Given the description of an element on the screen output the (x, y) to click on. 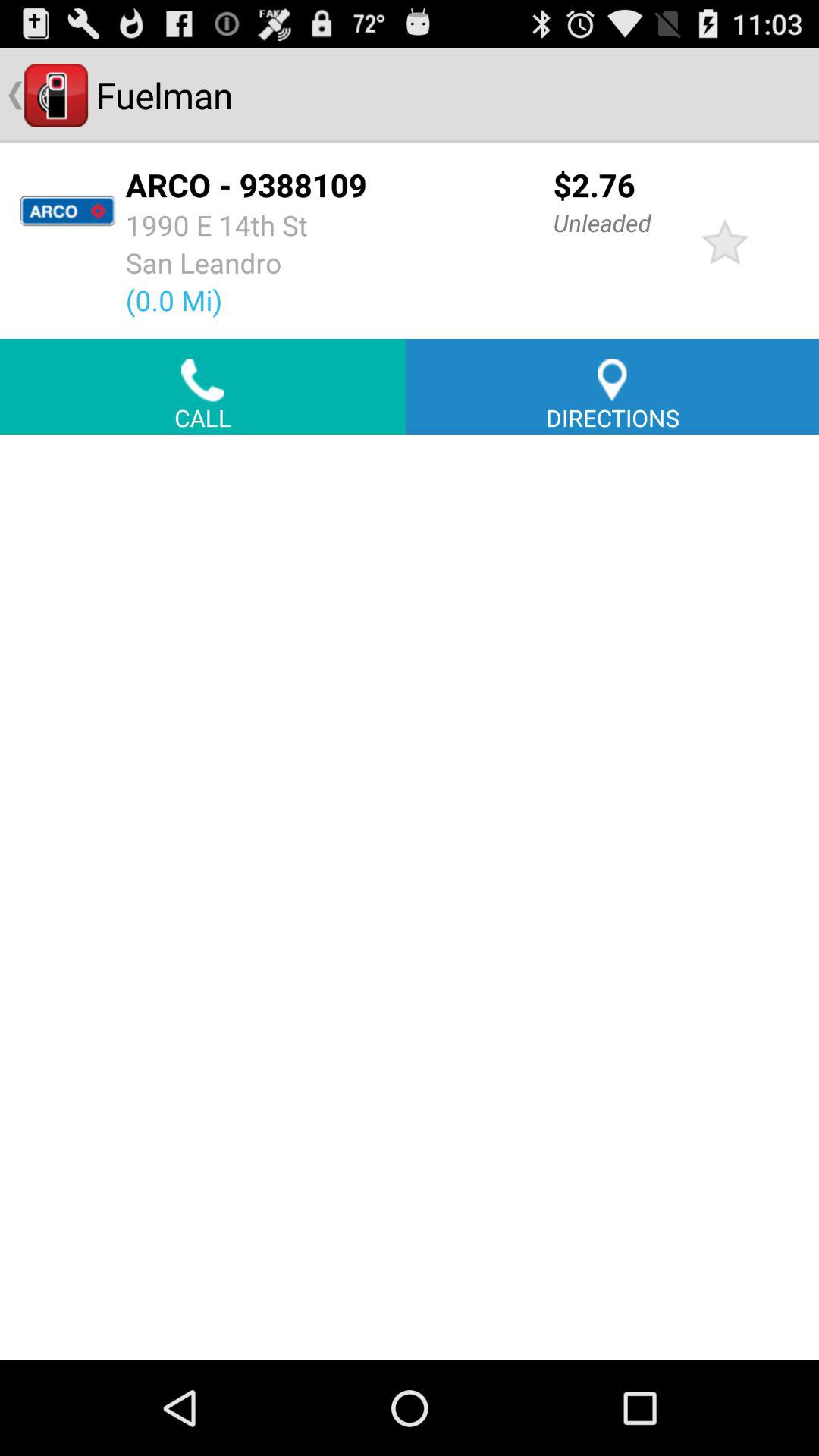
tap the directions button (612, 386)
